Given the description of an element on the screen output the (x, y) to click on. 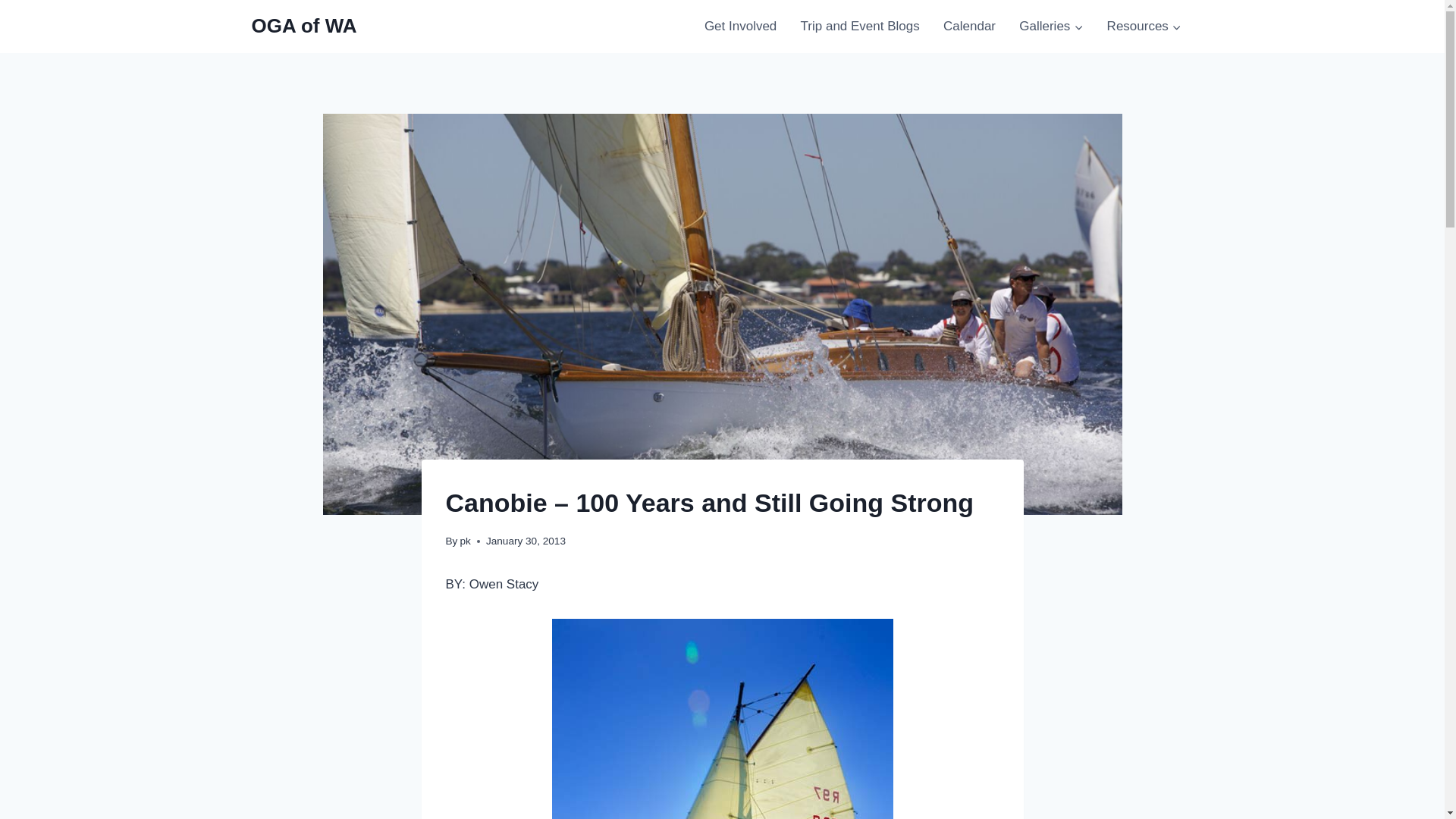
Calendar (969, 26)
Resources (1143, 26)
Get Involved (741, 26)
Galleries (1050, 26)
pk (465, 541)
OGA of WA (303, 25)
Trip and Event Blogs (860, 26)
